Given the description of an element on the screen output the (x, y) to click on. 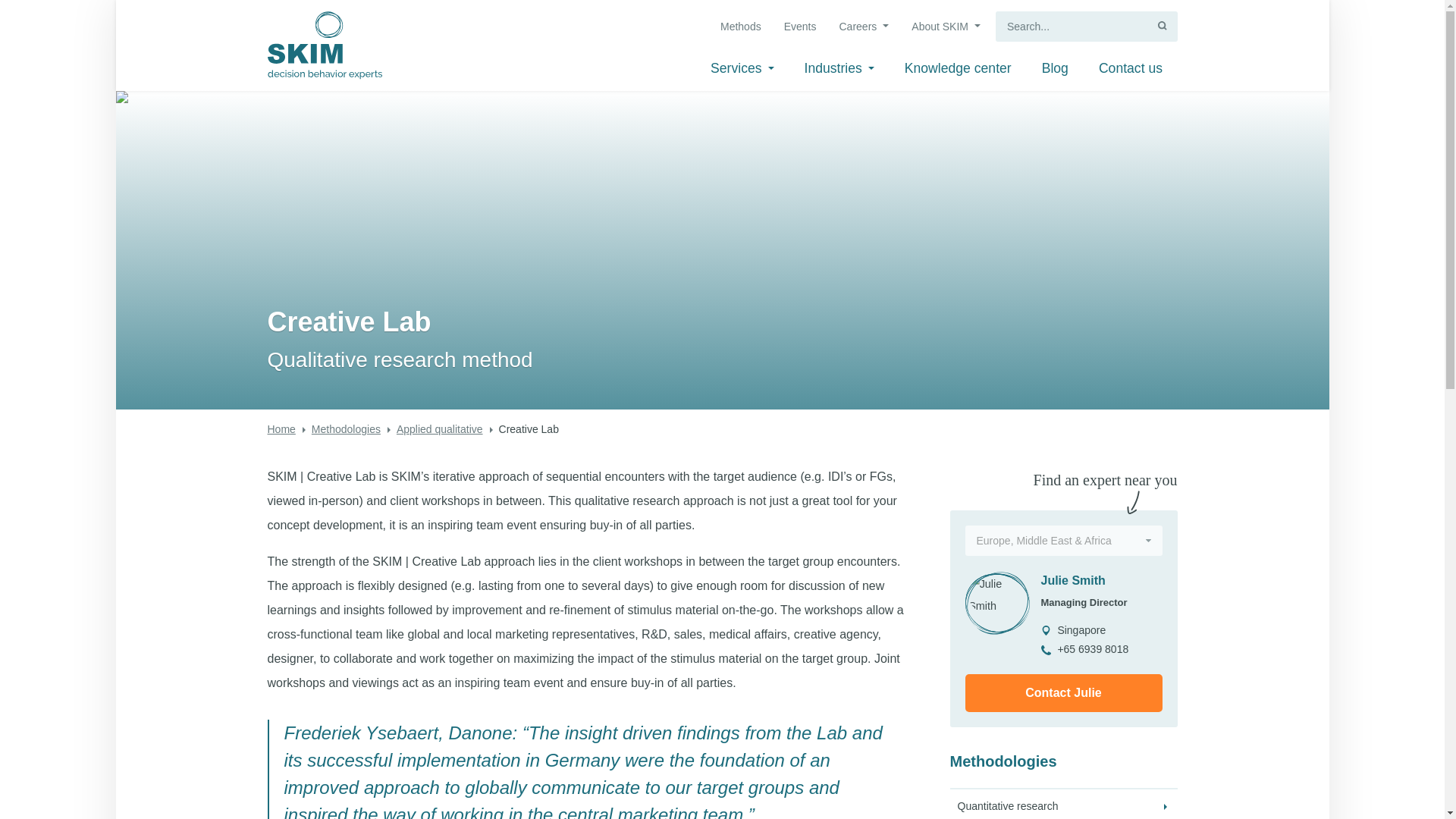
Events (799, 28)
Services (742, 71)
Industries (838, 71)
Knowledge center (957, 71)
Blog (1054, 71)
Careers (863, 28)
About SKIM (945, 28)
Methods (739, 28)
Contact us (1129, 71)
